Given the description of an element on the screen output the (x, y) to click on. 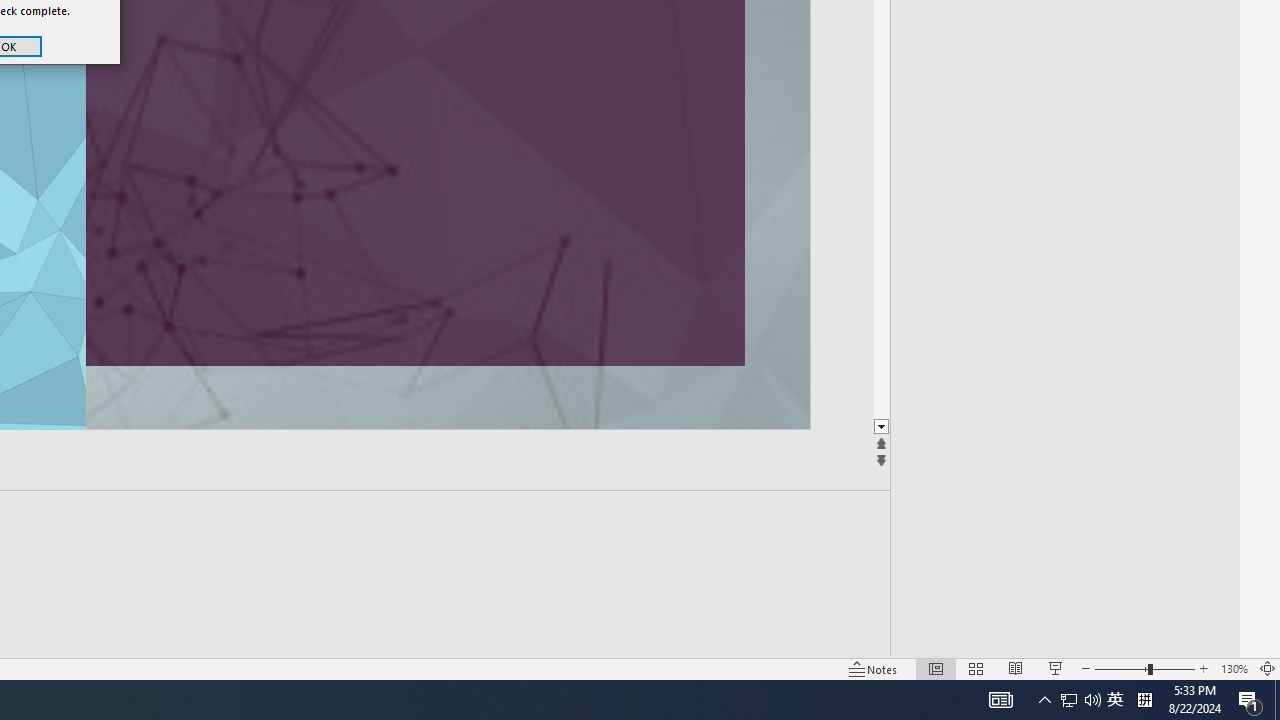
Zoom 130% (1234, 668)
